Given the description of an element on the screen output the (x, y) to click on. 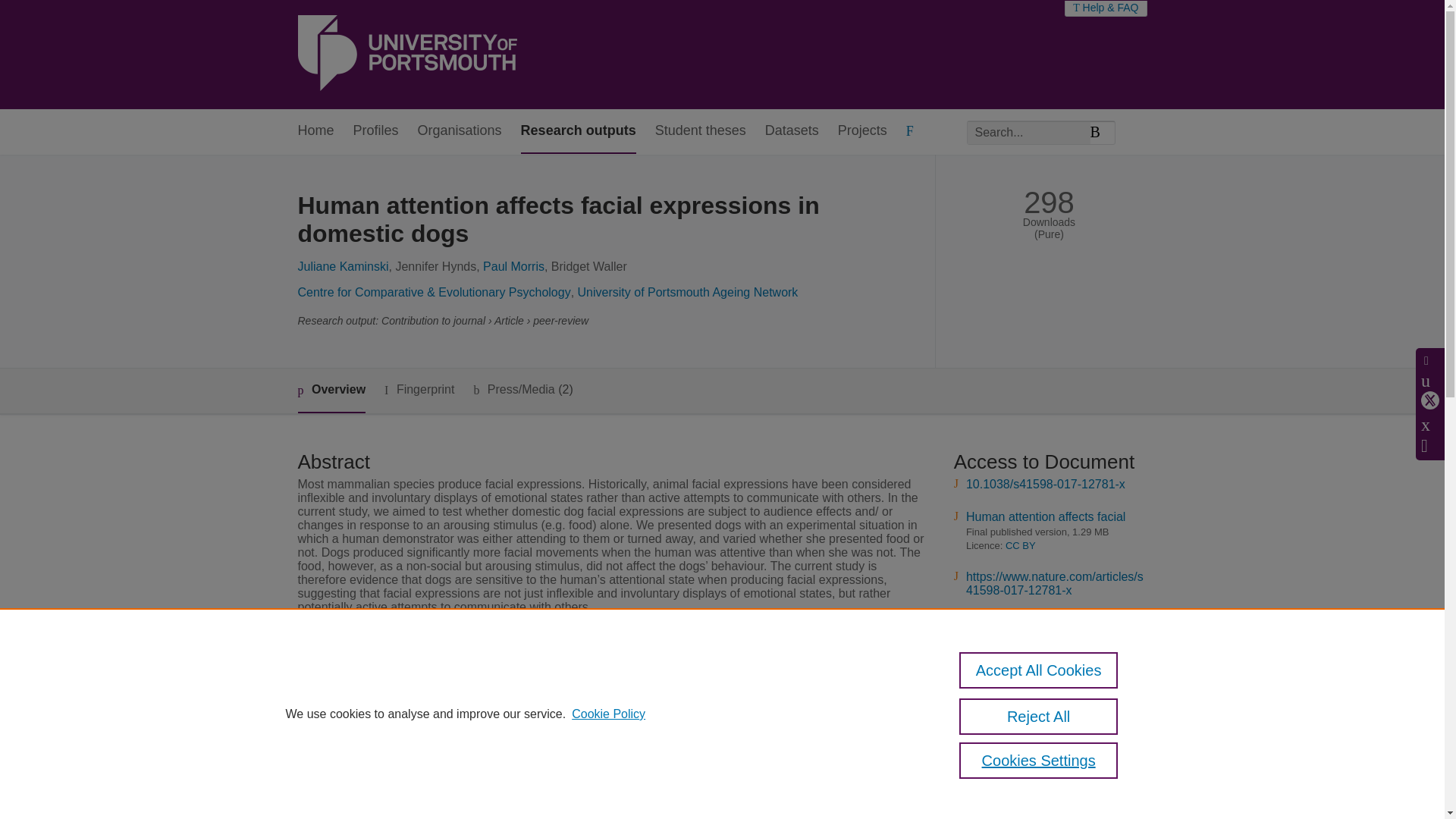
Profiles (375, 130)
Juliane Kaminski (342, 266)
Projects (862, 130)
Organisations (459, 130)
University of Portsmouth Home (406, 54)
Student theses (700, 130)
Overview (331, 390)
Fingerprint (419, 389)
Datasets (791, 130)
